Given the description of an element on the screen output the (x, y) to click on. 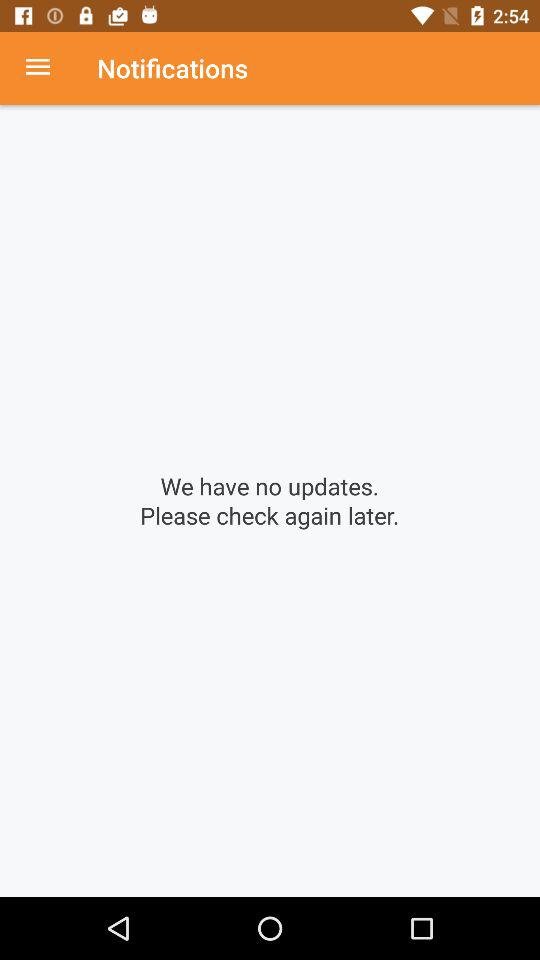
click for dropdown box (48, 67)
